Given the description of an element on the screen output the (x, y) to click on. 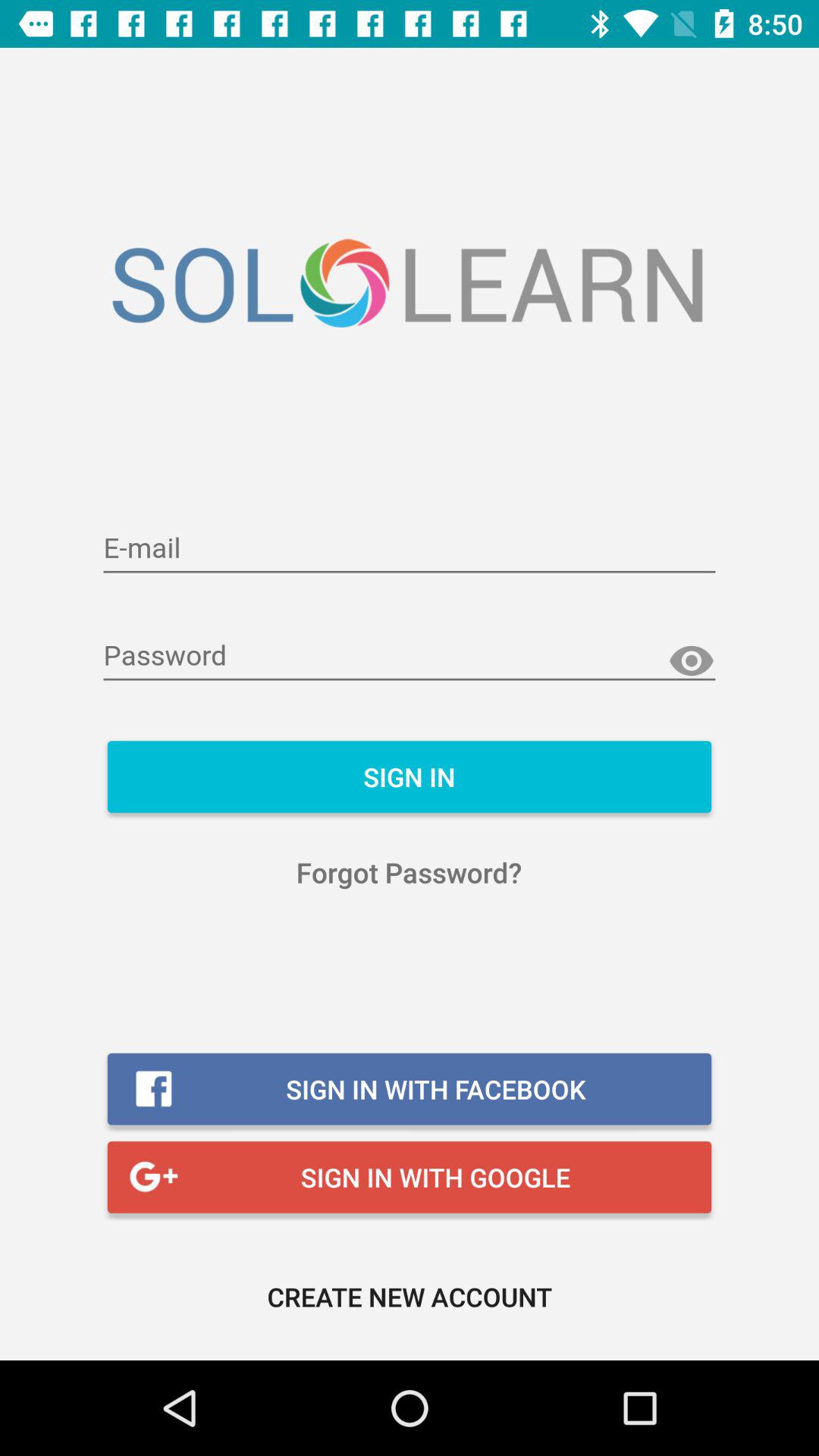
turn off the icon above sign in with item (409, 872)
